Given the description of an element on the screen output the (x, y) to click on. 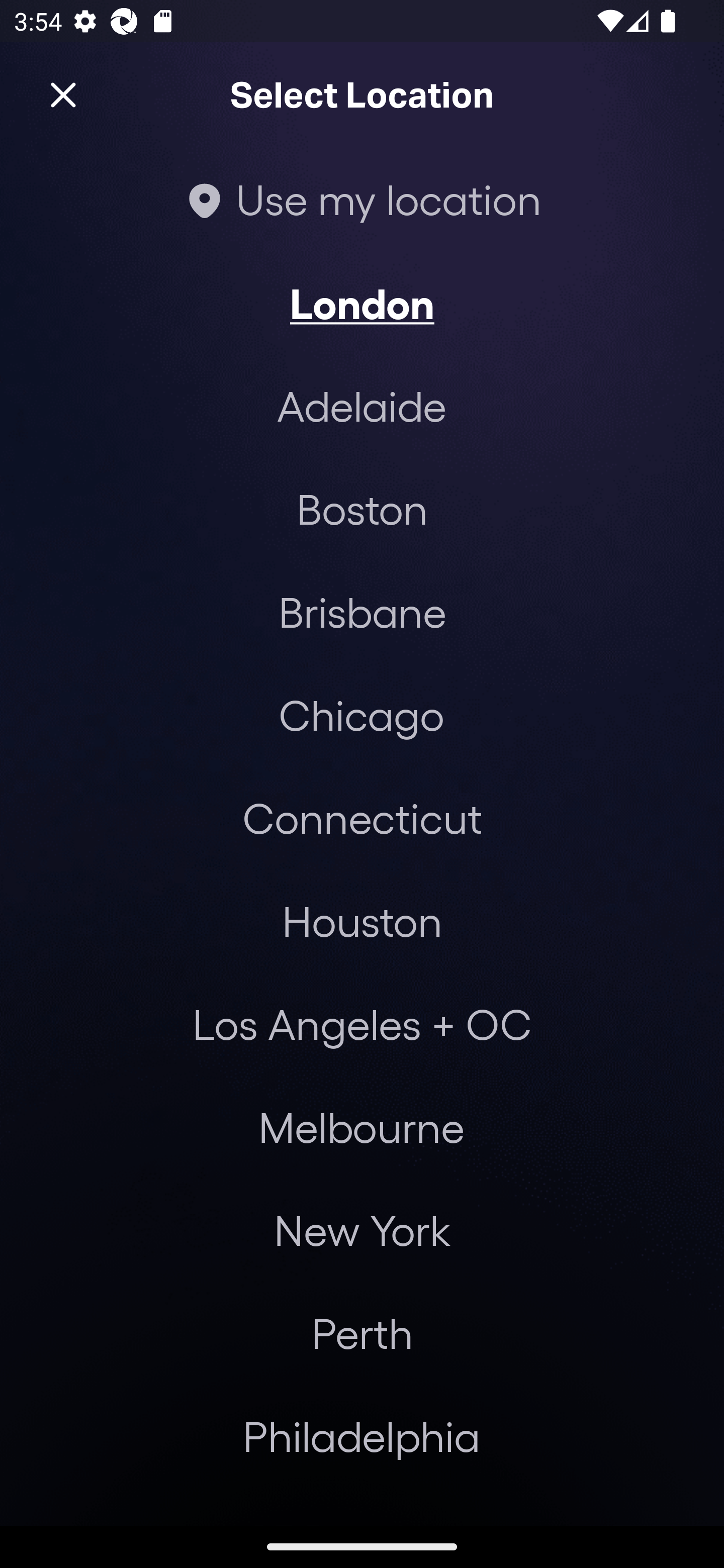
Close (62, 95)
   Use my location (362, 198)
London (361, 302)
Adelaide (361, 405)
Boston (361, 508)
Brisbane (361, 611)
Chicago (361, 714)
Connecticut (361, 817)
Houston (361, 920)
Los Angeles + OC (361, 1023)
Melbourne (361, 1127)
New York (361, 1230)
Perth (361, 1332)
Philadelphia (361, 1436)
